Given the description of an element on the screen output the (x, y) to click on. 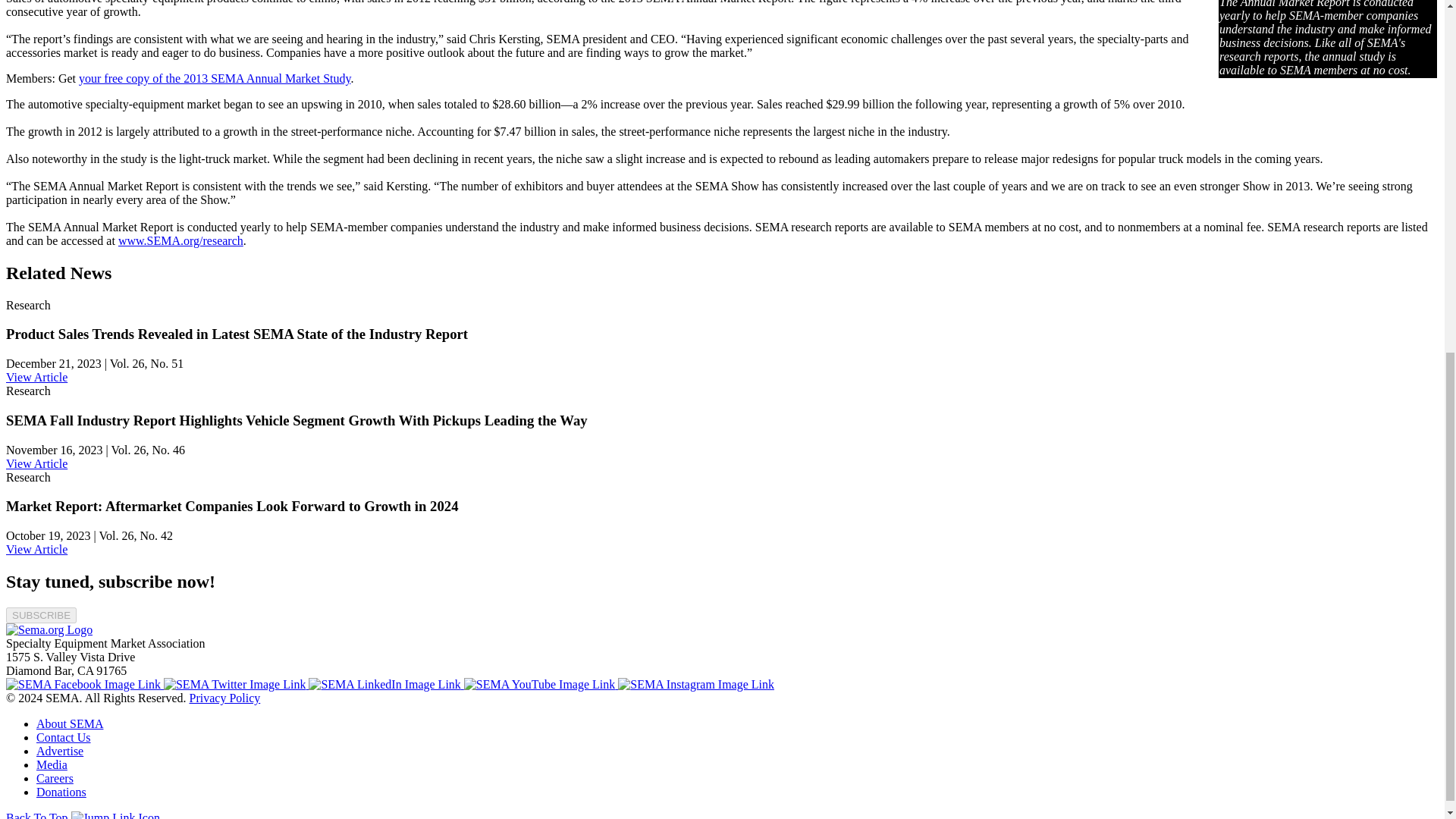
View Article (35, 463)
SEMA Facebook Link (84, 684)
SEMA LinkedIn Link (385, 684)
your free copy of the 2013 SEMA Annual Market Study (214, 78)
SUBSCRIBE (41, 615)
SEMA YouTube Link (540, 684)
SEMA Twitter Link (235, 684)
View Article (35, 549)
